Given the description of an element on the screen output the (x, y) to click on. 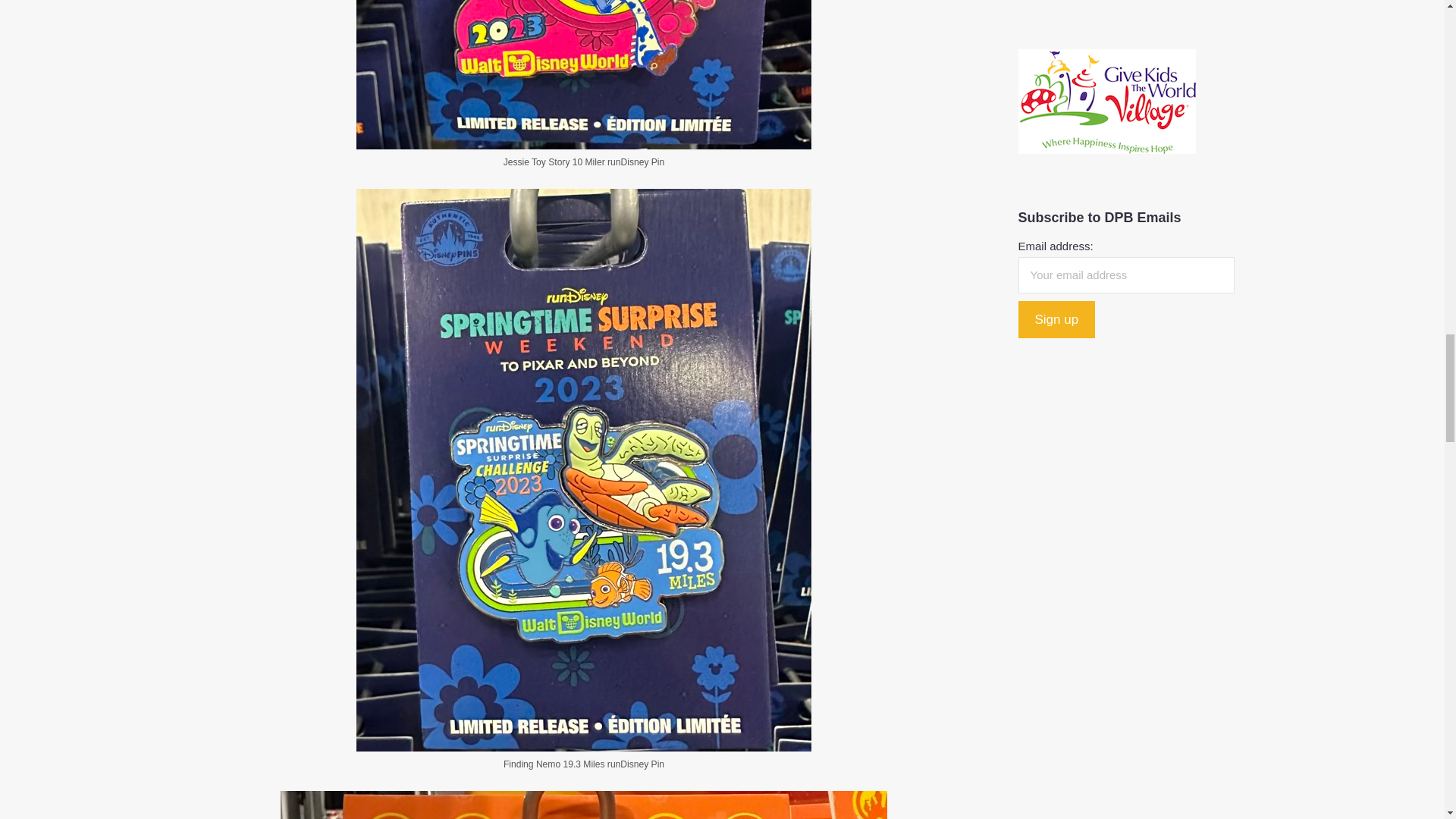
Sign up (1055, 319)
